Given the description of an element on the screen output the (x, y) to click on. 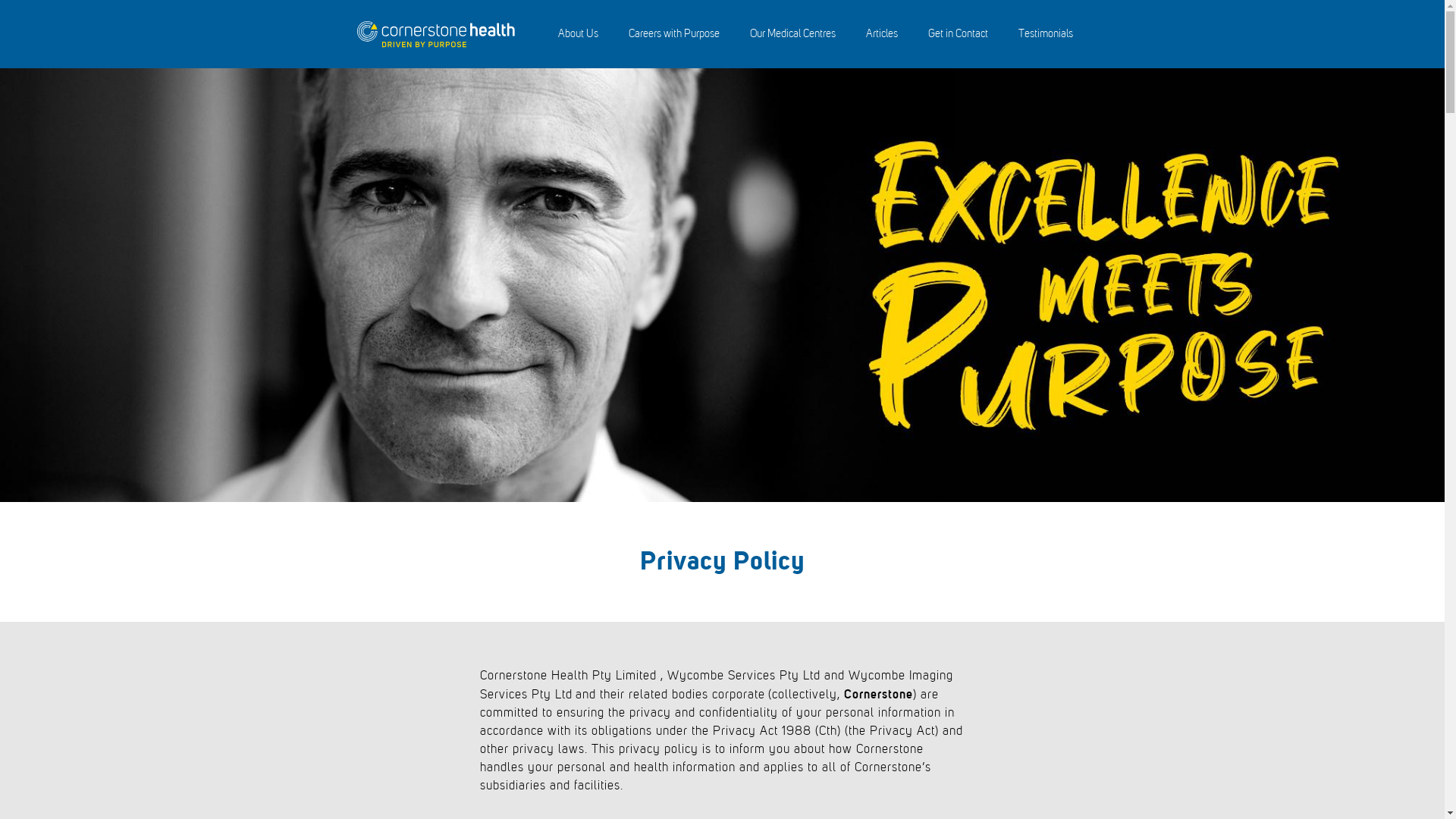
About Us Element type: text (577, 34)
Testimonials Element type: text (1044, 34)
Careers with Purpose Element type: text (673, 34)
Get in Contact Element type: text (958, 34)
Articles Element type: text (881, 34)
Our Medical Centres Element type: text (792, 34)
